Given the description of an element on the screen output the (x, y) to click on. 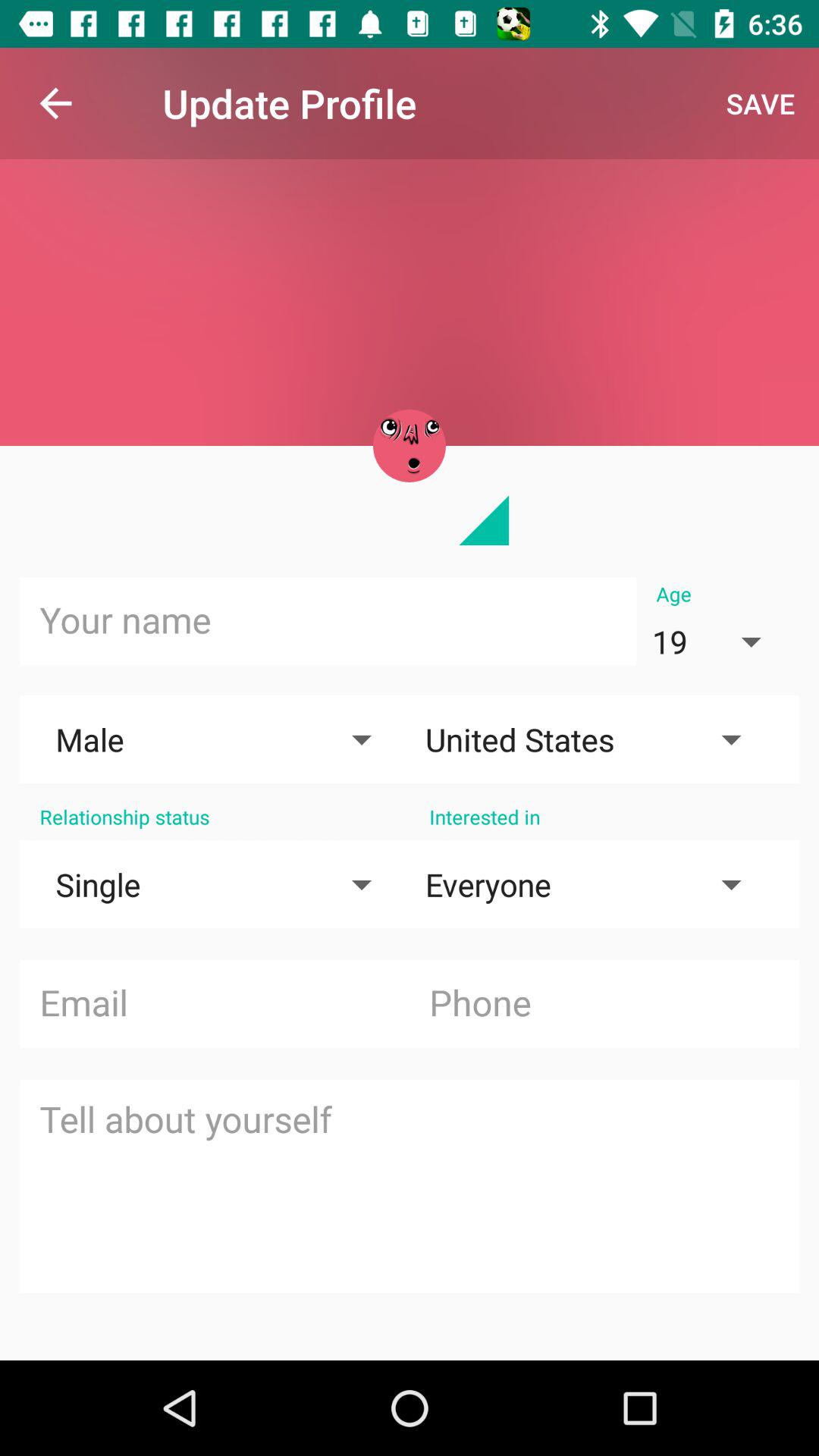
text field (409, 1186)
